Given the description of an element on the screen output the (x, y) to click on. 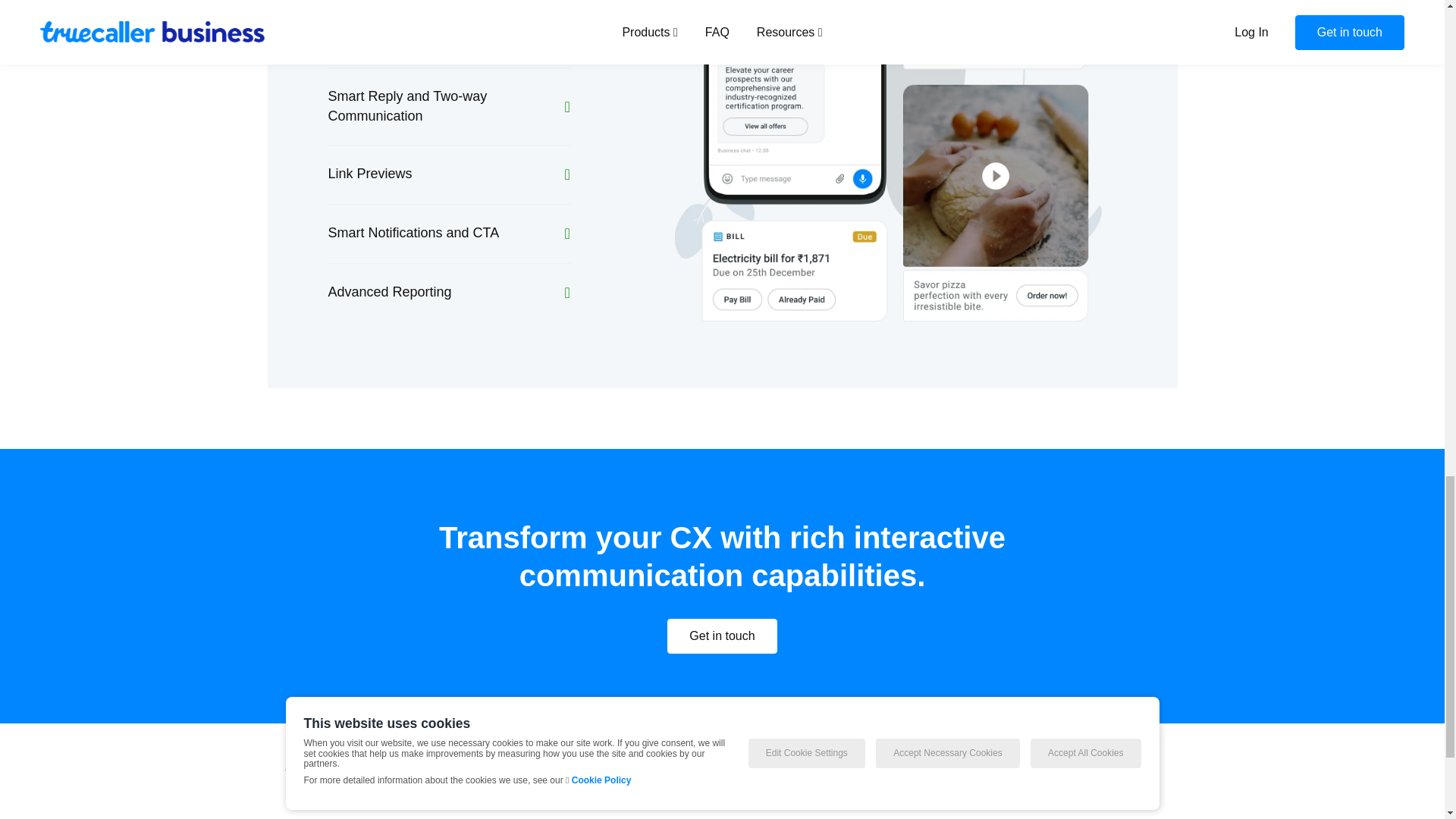
Get in touch (721, 636)
Terms (769, 770)
Truecaller Enterprise Terms (885, 770)
Get in touch (721, 636)
Privacy Policy (885, 770)
Responsible disclosure (1103, 770)
Privacy policy (769, 770)
Cookie policy (999, 770)
